Given the description of an element on the screen output the (x, y) to click on. 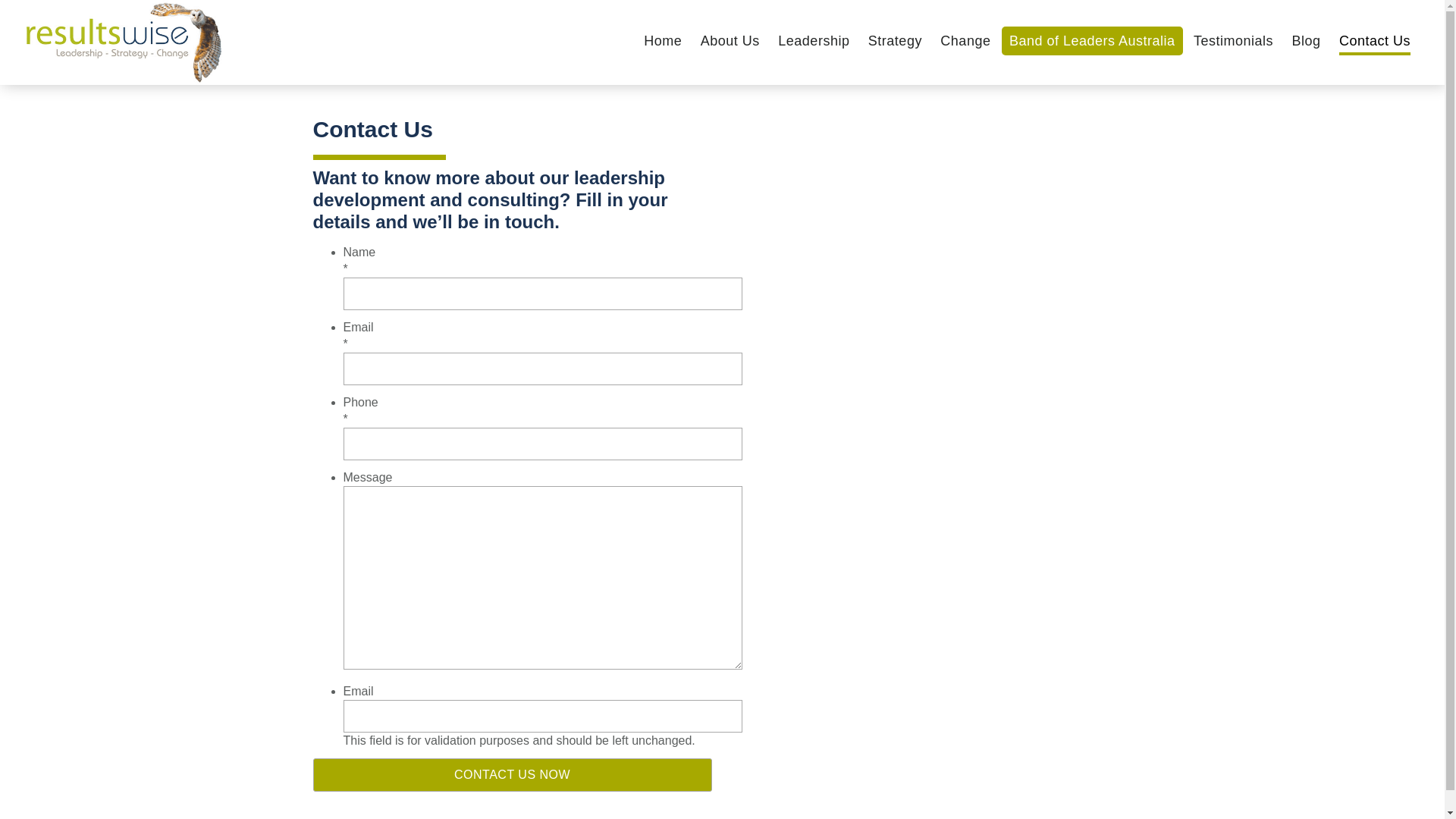
Leadership (813, 40)
Testimonials (1233, 40)
Strategy (895, 40)
Contact Us (1375, 40)
About Us (730, 40)
RESULTS WISE (125, 20)
Contact Us Now (512, 774)
Change (965, 40)
Blog (1305, 40)
